Given the description of an element on the screen output the (x, y) to click on. 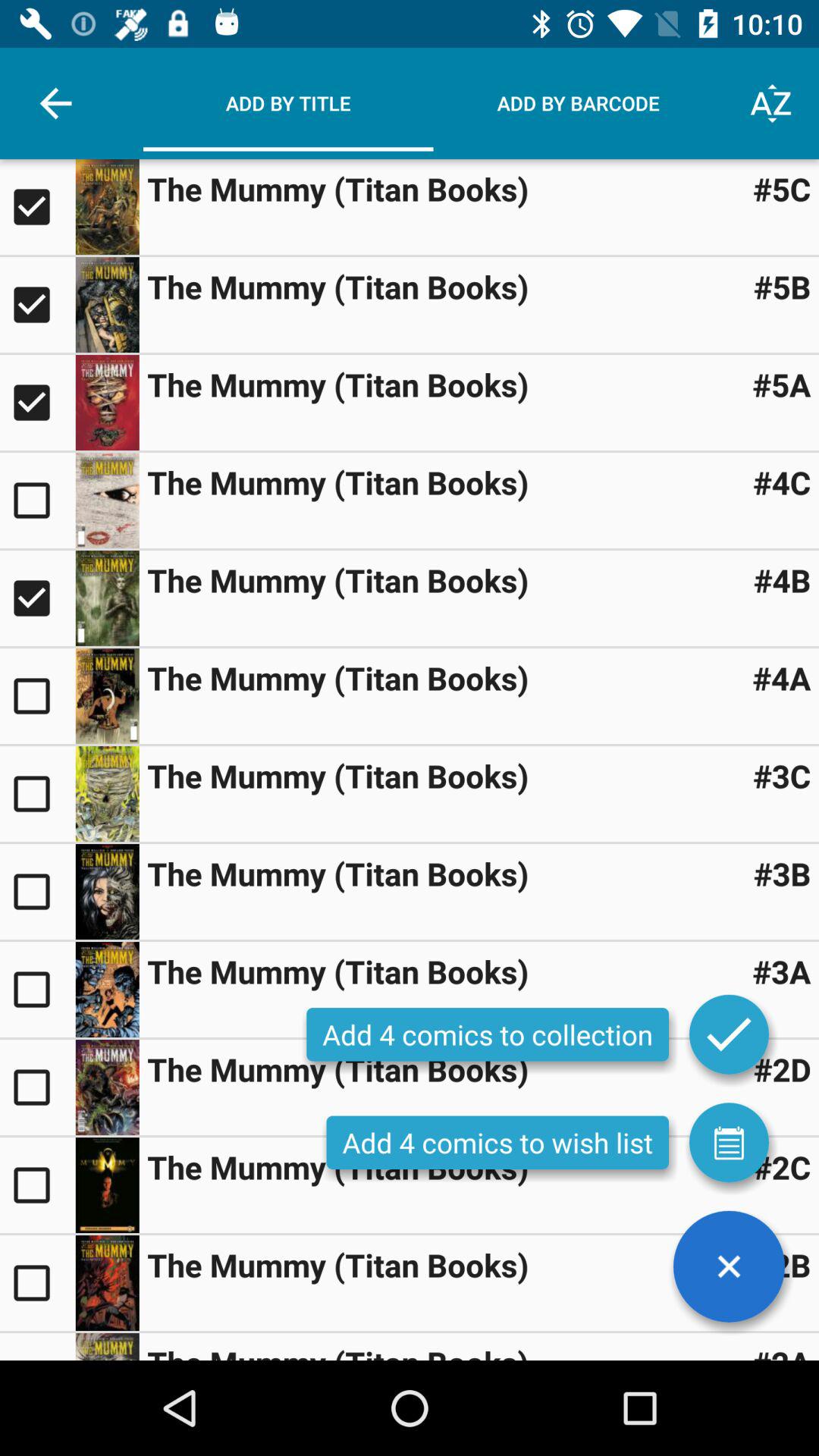
unselect (37, 402)
